Given the description of an element on the screen output the (x, y) to click on. 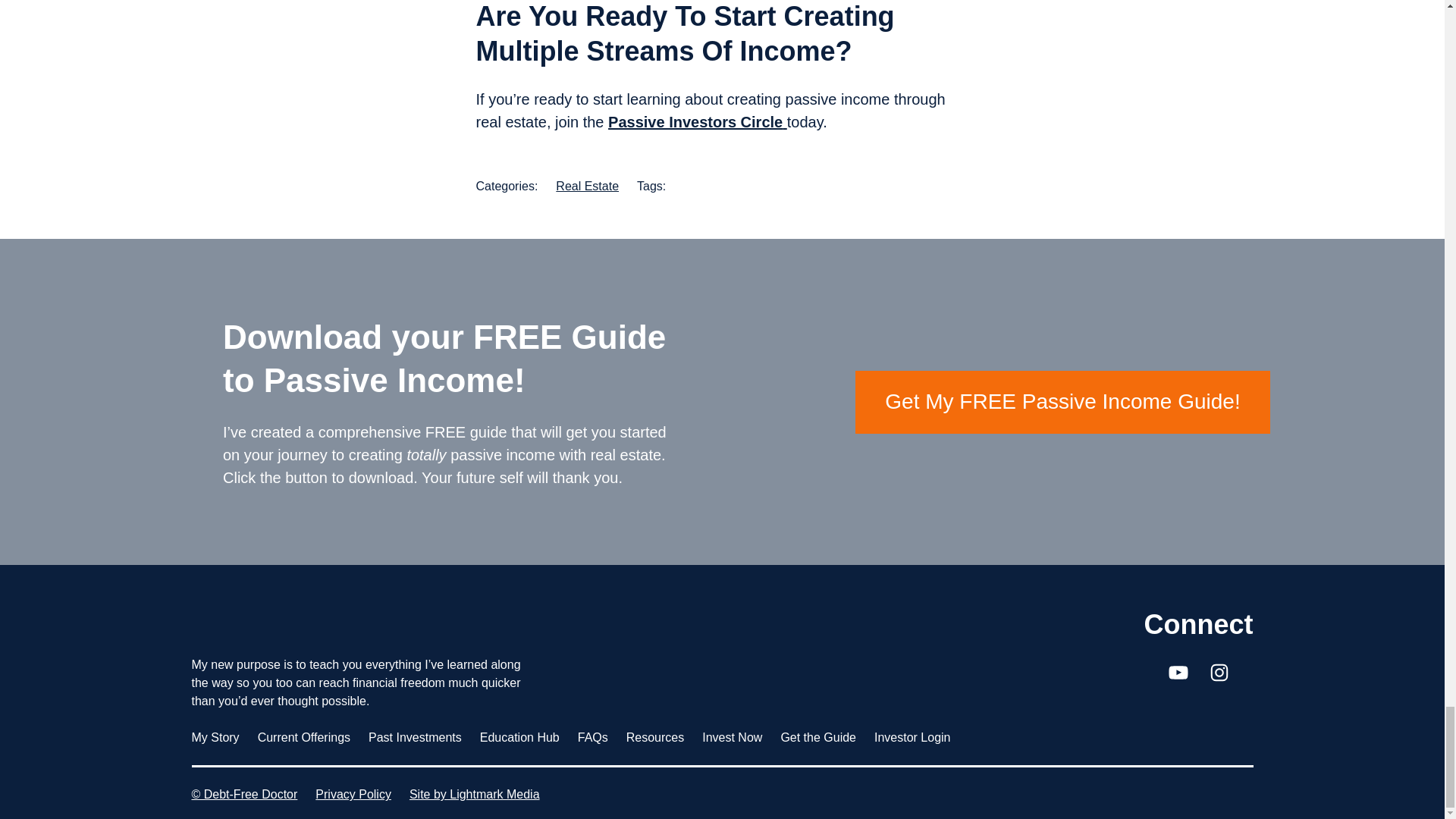
Current Offerings (303, 737)
Real Estate (587, 185)
Past Investments (414, 737)
My Story (214, 737)
Passive Investors Circle (697, 121)
Get My FREE Passive Income Guide! (1062, 402)
